Given the description of an element on the screen output the (x, y) to click on. 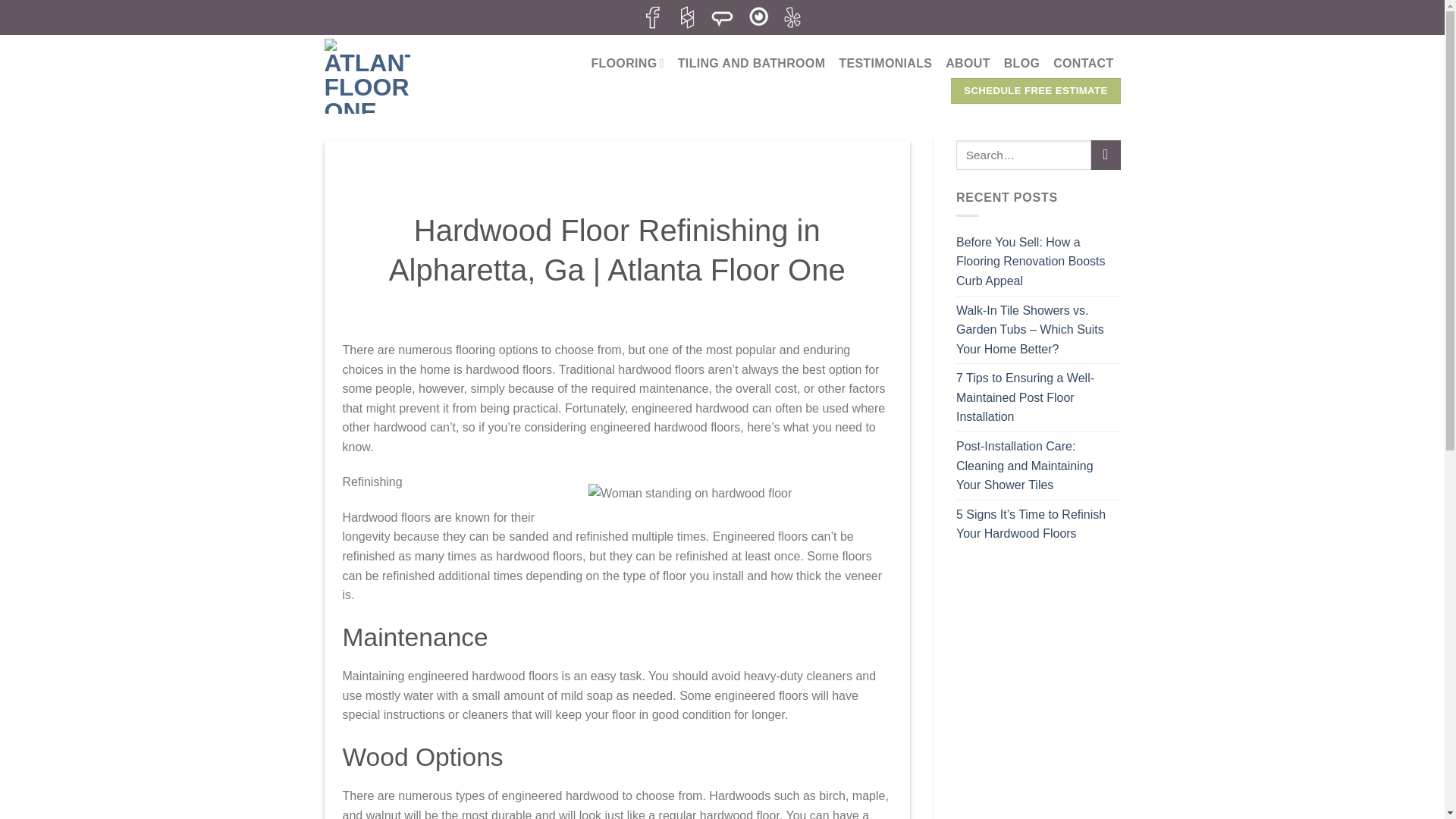
Engineered hardwood floor installation in Alpharetta (739, 493)
ABOUT (967, 62)
TILING AND BATHROOM (751, 62)
FLOORING (627, 62)
SCHEDULE FREE ESTIMATE (1034, 90)
BLOG (1022, 62)
7 Tips to Ensuring a Well-Maintained Post Floor Installation (1038, 397)
TESTIMONIALS (884, 62)
CONTACT (1082, 62)
